Given the description of an element on the screen output the (x, y) to click on. 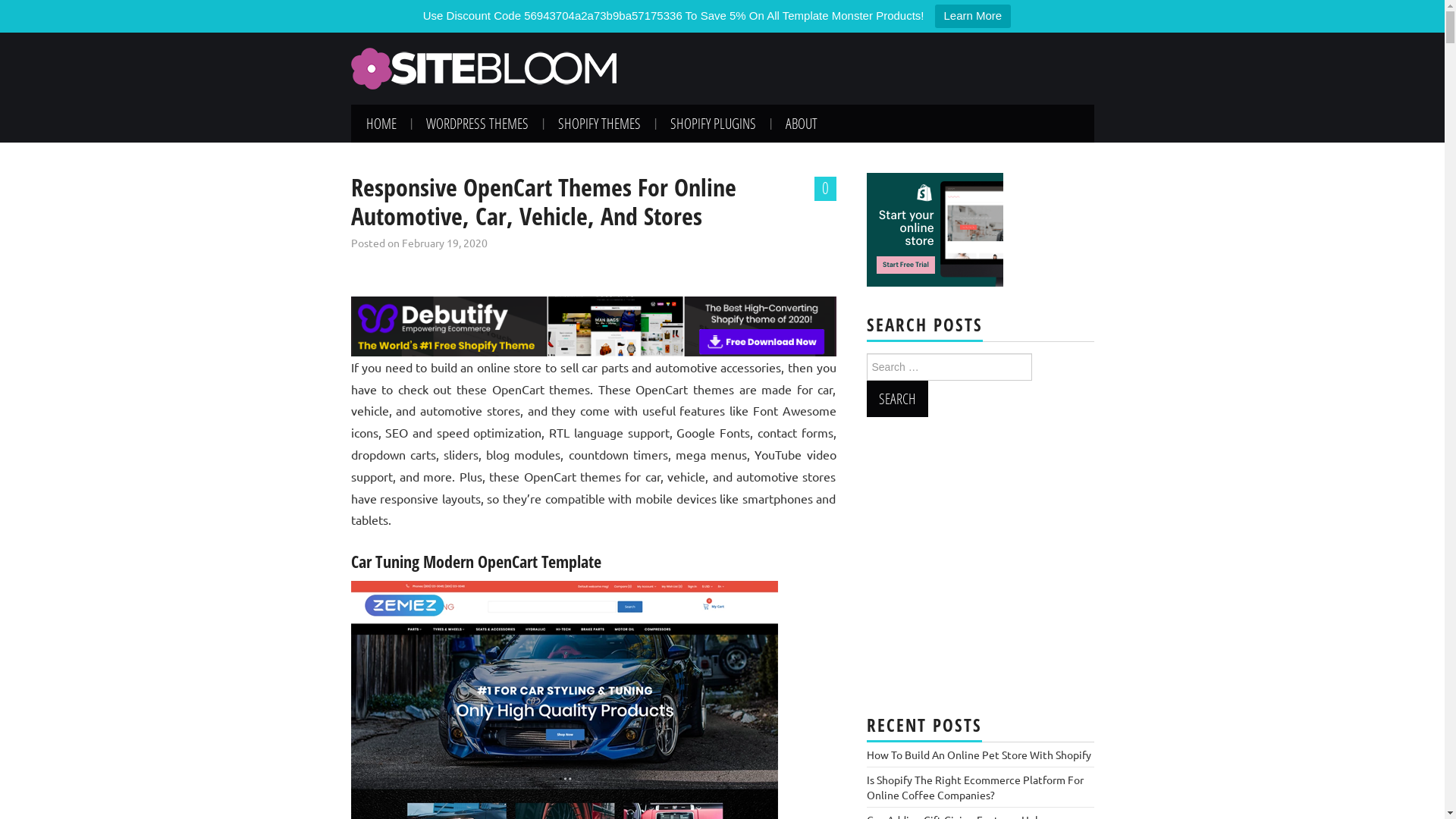
ABOUT Element type: text (801, 123)
Learn More Element type: text (972, 16)
Search Element type: text (896, 398)
Search for: Element type: hover (948, 366)
Site Bloom Element type: hover (482, 66)
SHOPIFY THEMES Element type: text (598, 123)
HOME Element type: text (380, 123)
How To Build An Online Pet Store With Shopify Element type: text (978, 754)
SHOPIFY PLUGINS Element type: text (713, 123)
0 Element type: text (825, 188)
WORDPRESS THEMES Element type: text (477, 123)
